Given the description of an element on the screen output the (x, y) to click on. 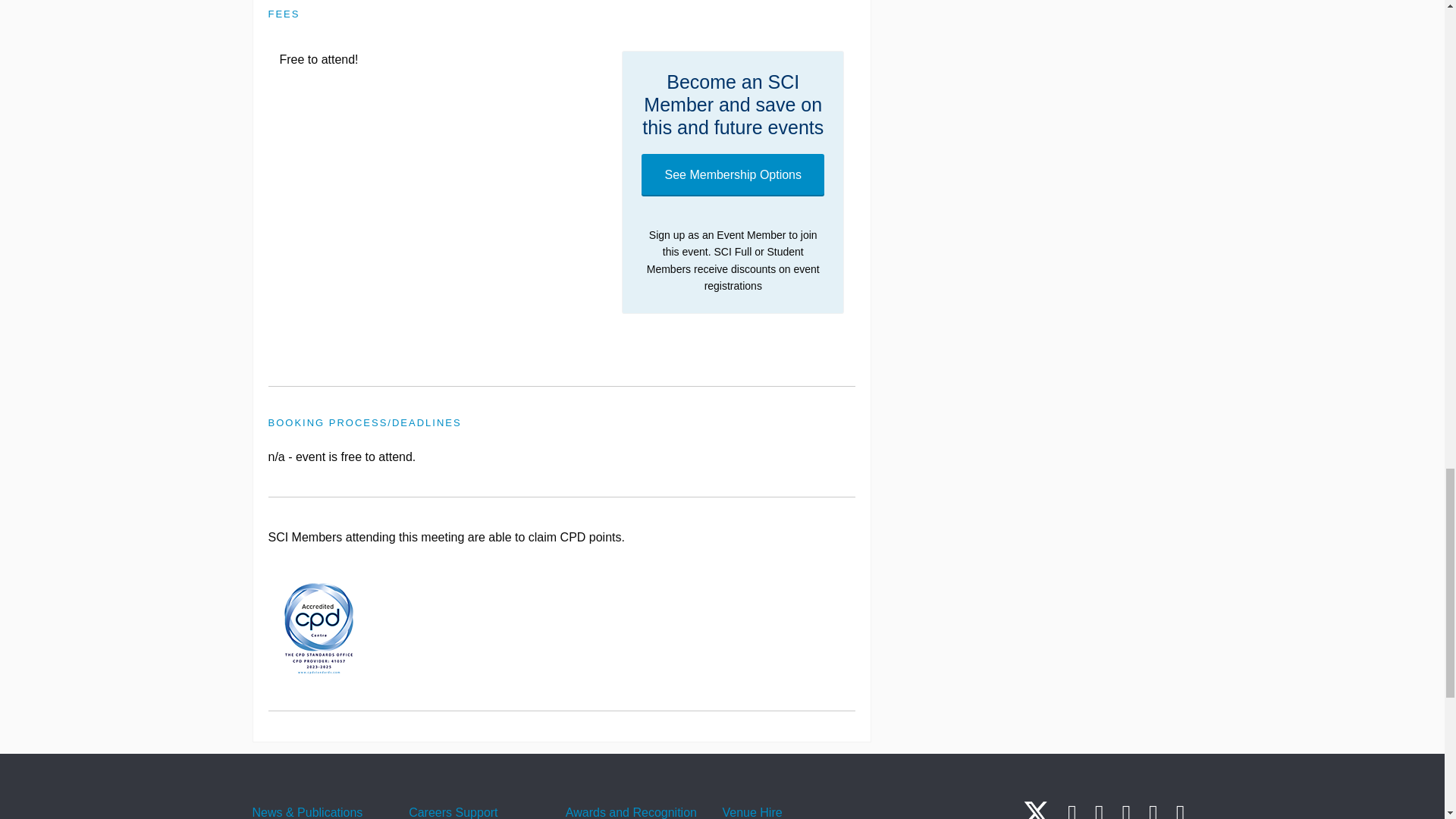
Instagram (1098, 810)
LinkedIn (1072, 810)
Twitter (1036, 809)
